Given the description of an element on the screen output the (x, y) to click on. 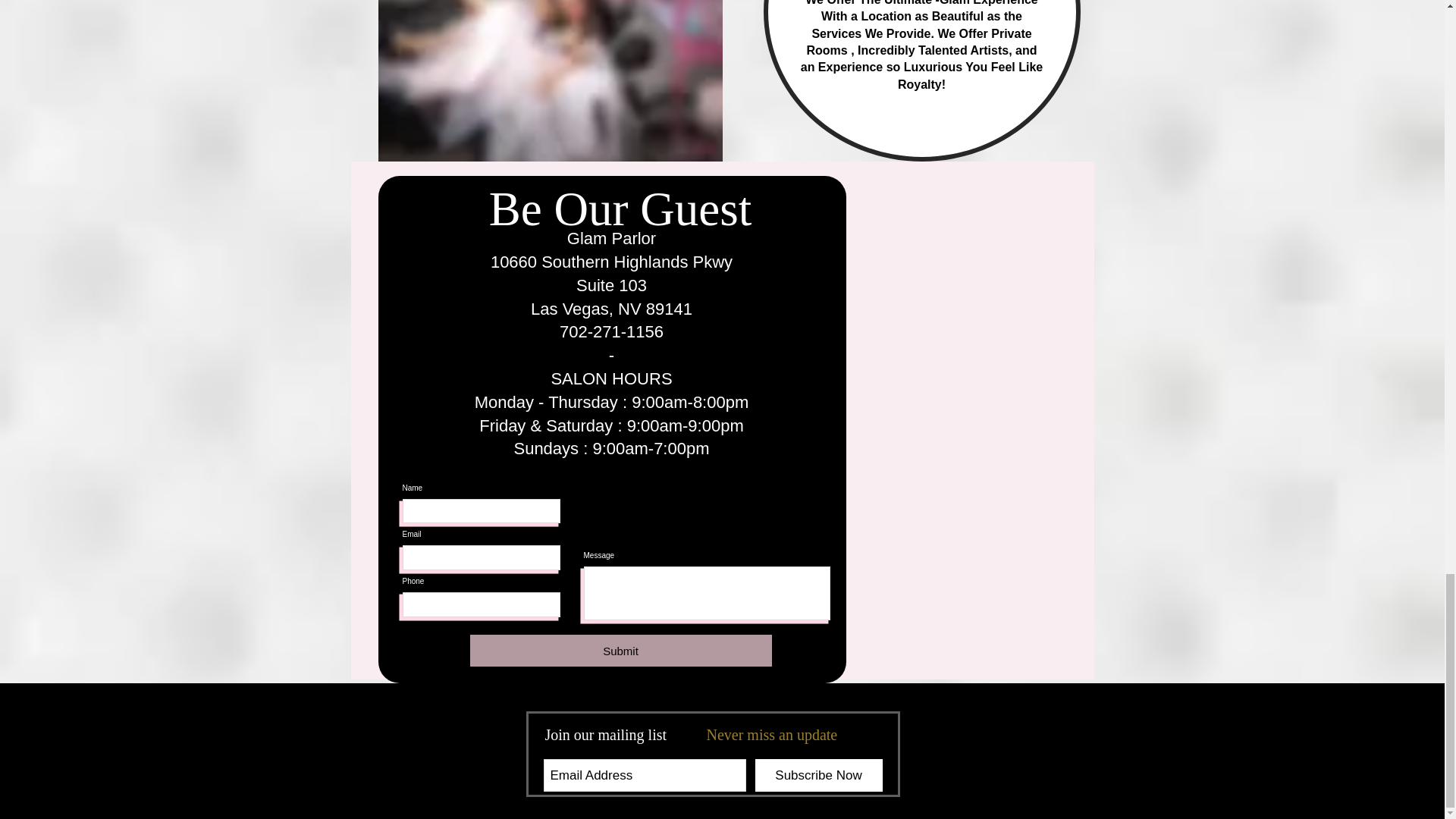
Submit (620, 650)
Subscribe Now (818, 775)
